Given the description of an element on the screen output the (x, y) to click on. 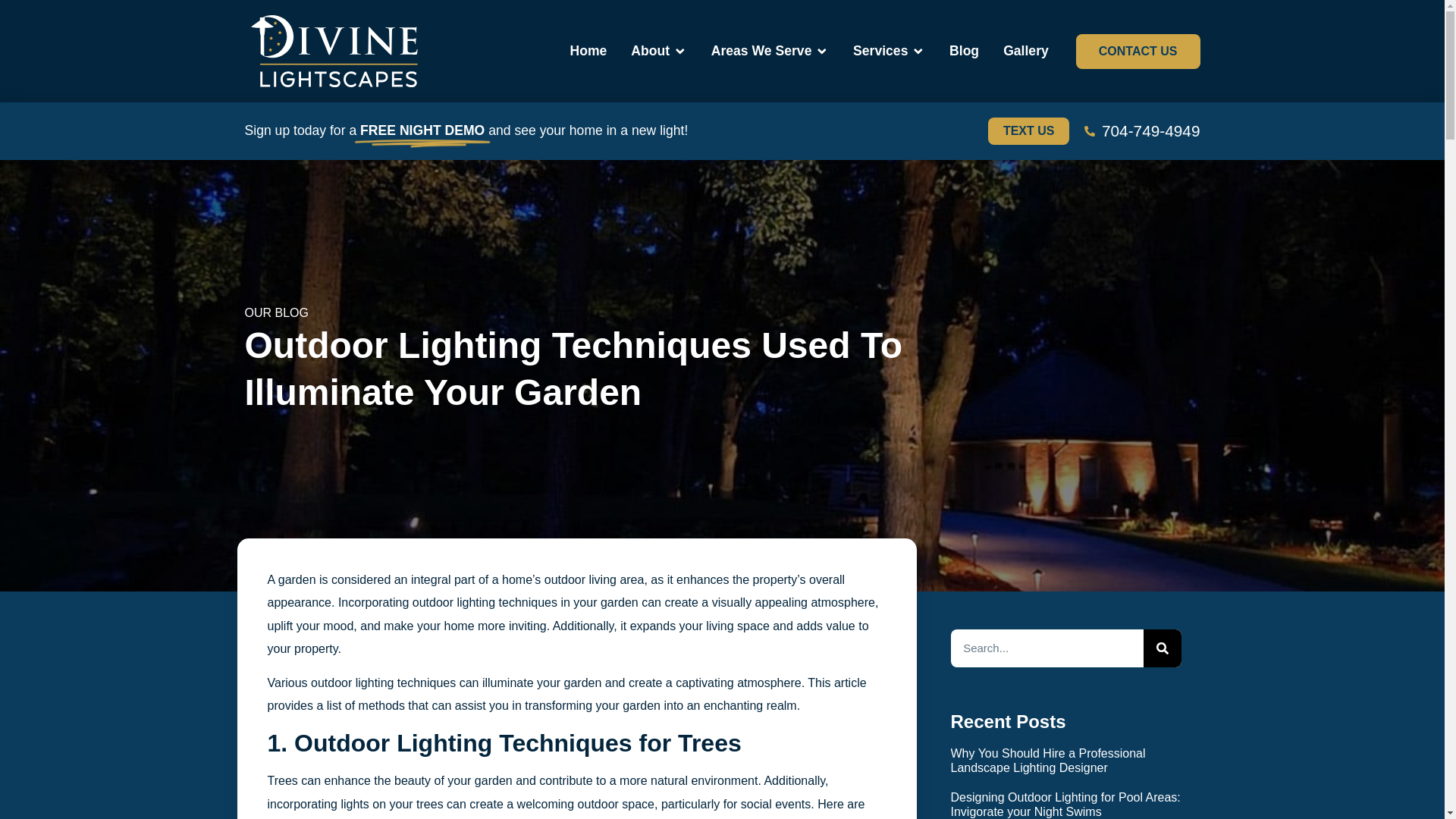
CONTACT US (1137, 50)
Areas We Serve (761, 50)
Gallery (1025, 50)
Blog (963, 50)
Home (588, 50)
Divine-Lightscapes-White (333, 50)
Services (880, 50)
About (649, 50)
